Given the description of an element on the screen output the (x, y) to click on. 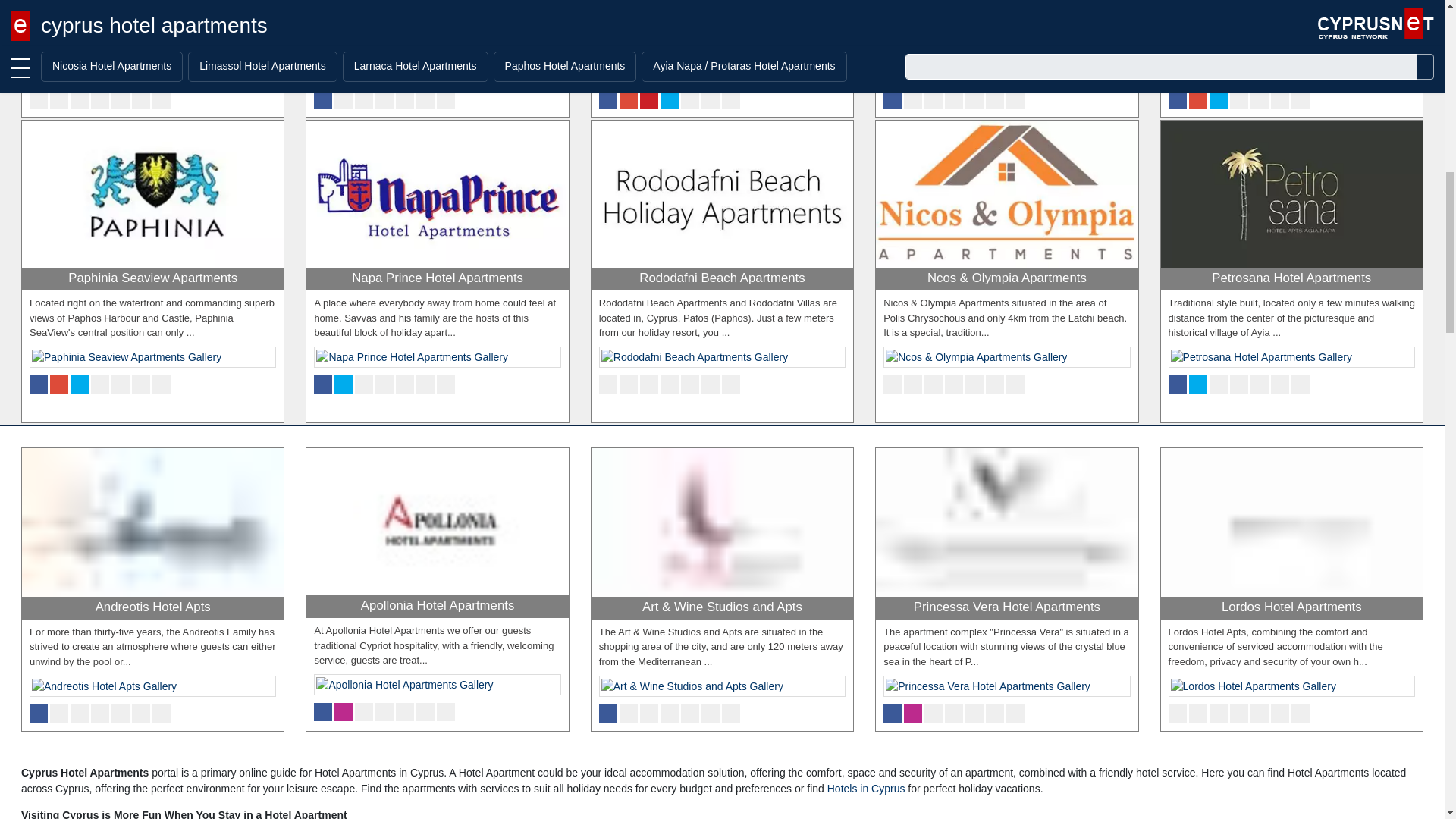
Twitter (140, 99)
Facebook (38, 99)
Debbie Xenia Hotel Apartments (152, 45)
Pinterest (120, 99)
Youtube (99, 99)
Instagram (58, 99)
Linkedin (78, 99)
